Given the description of an element on the screen output the (x, y) to click on. 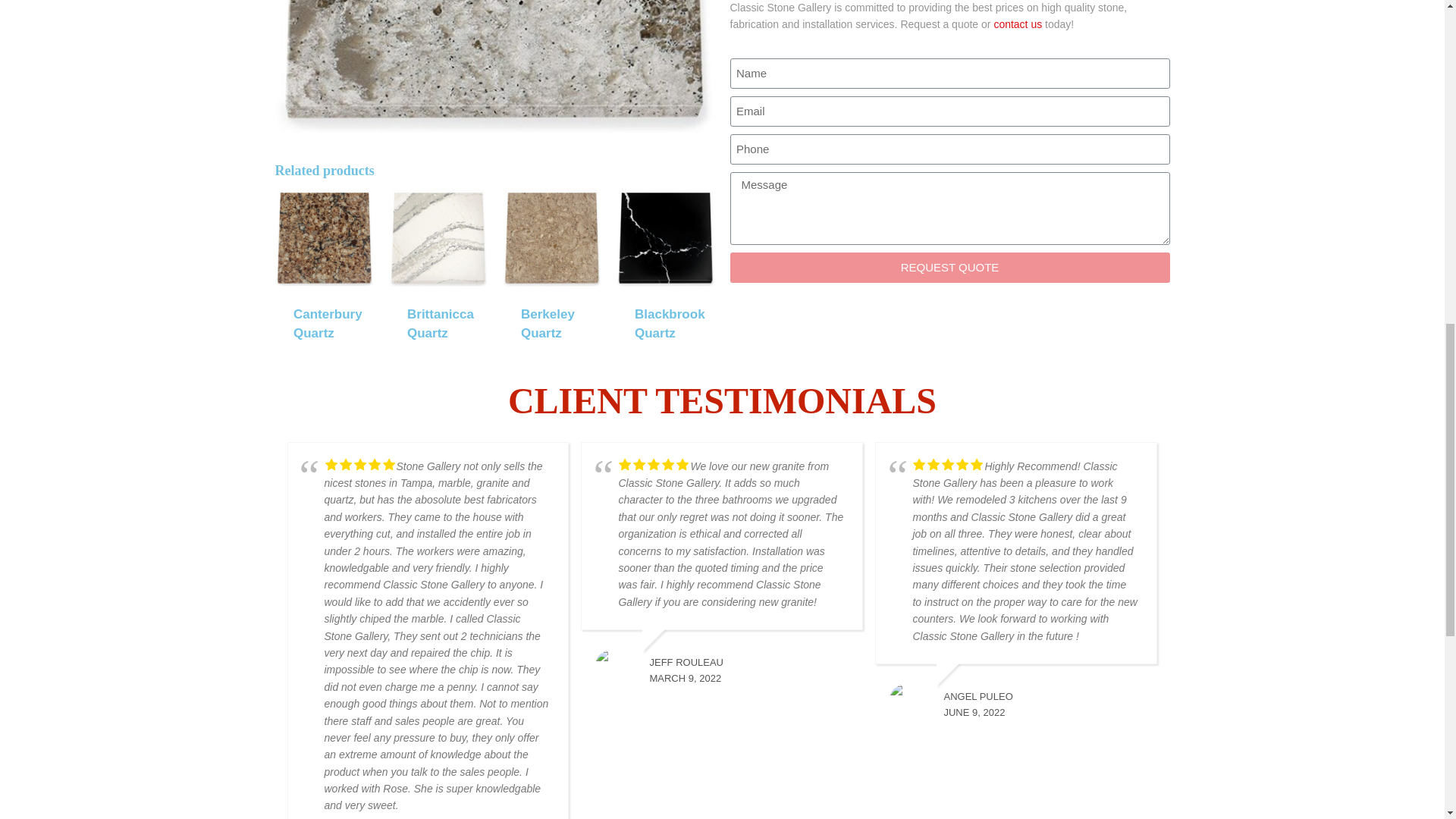
Contact Us (1017, 24)
Galloway (494, 66)
